Given the description of an element on the screen output the (x, y) to click on. 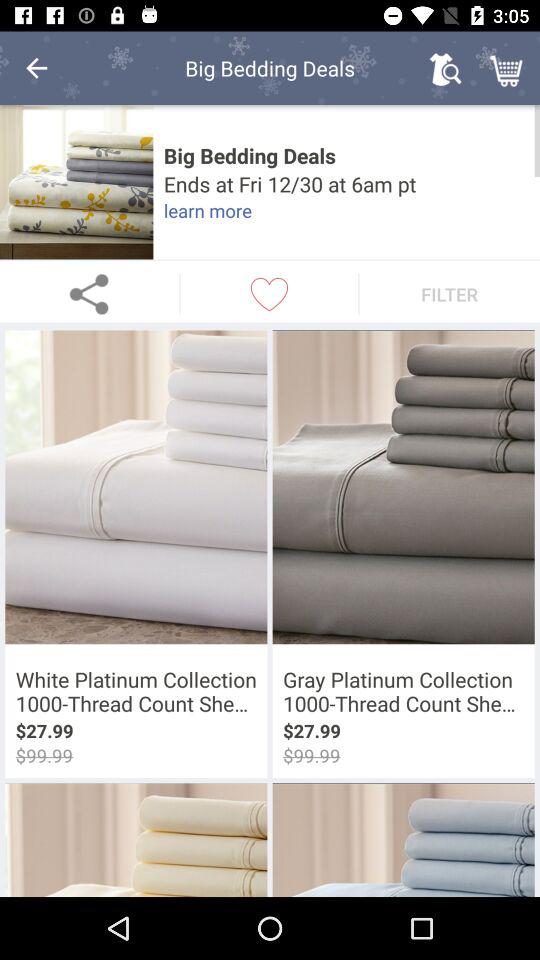
advertised image screen (76, 182)
